Given the description of an element on the screen output the (x, y) to click on. 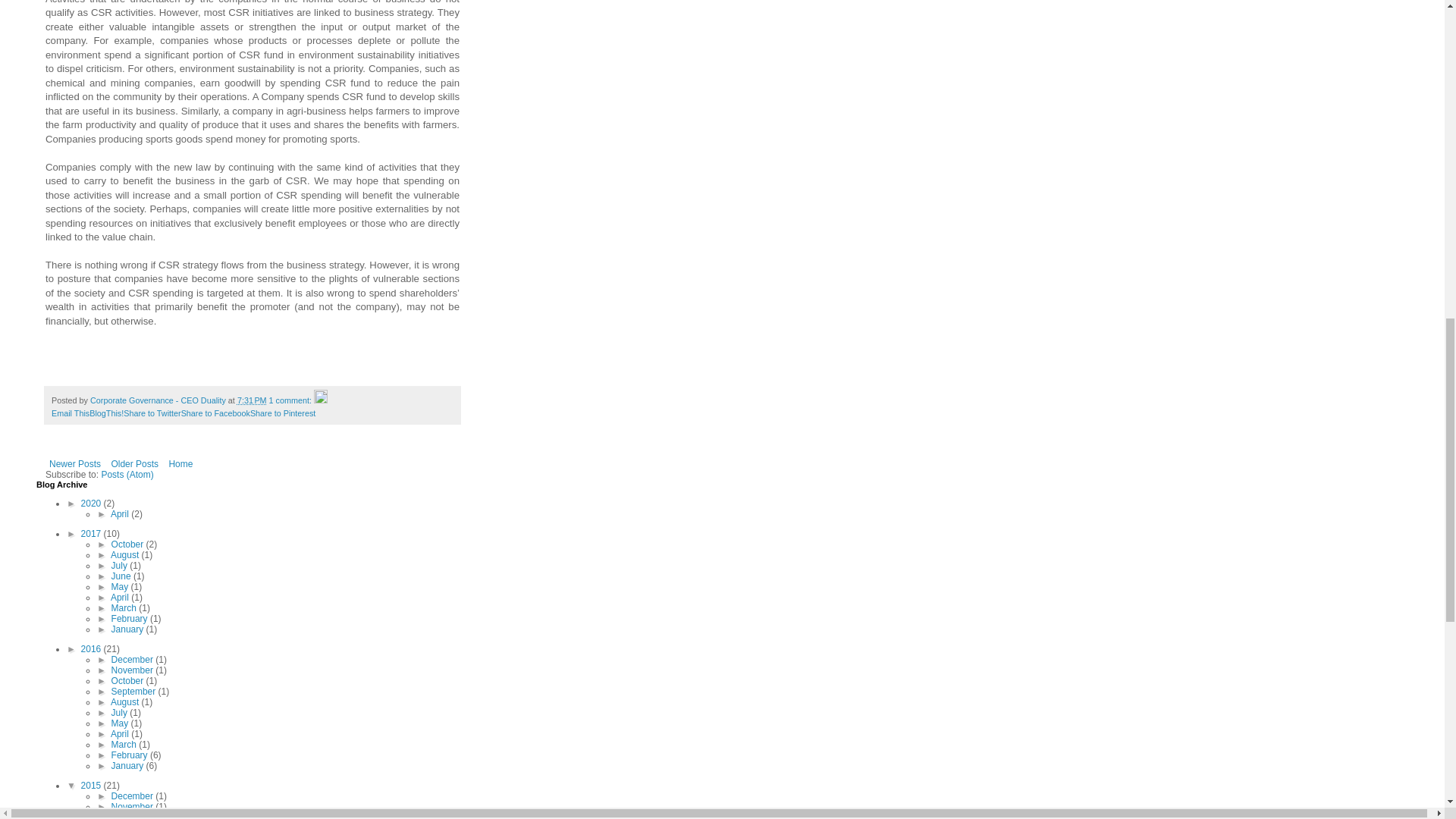
Share to Pinterest (282, 412)
January (129, 629)
February (130, 618)
Corporate Governance - CEO Duality (159, 399)
October (129, 543)
2017 (92, 533)
Share to Facebook (215, 412)
March (125, 607)
2020 (92, 502)
July (121, 565)
Share to Twitter (151, 412)
Older Posts (133, 464)
permanent link (251, 399)
Share to Pinterest (282, 412)
